Given the description of an element on the screen output the (x, y) to click on. 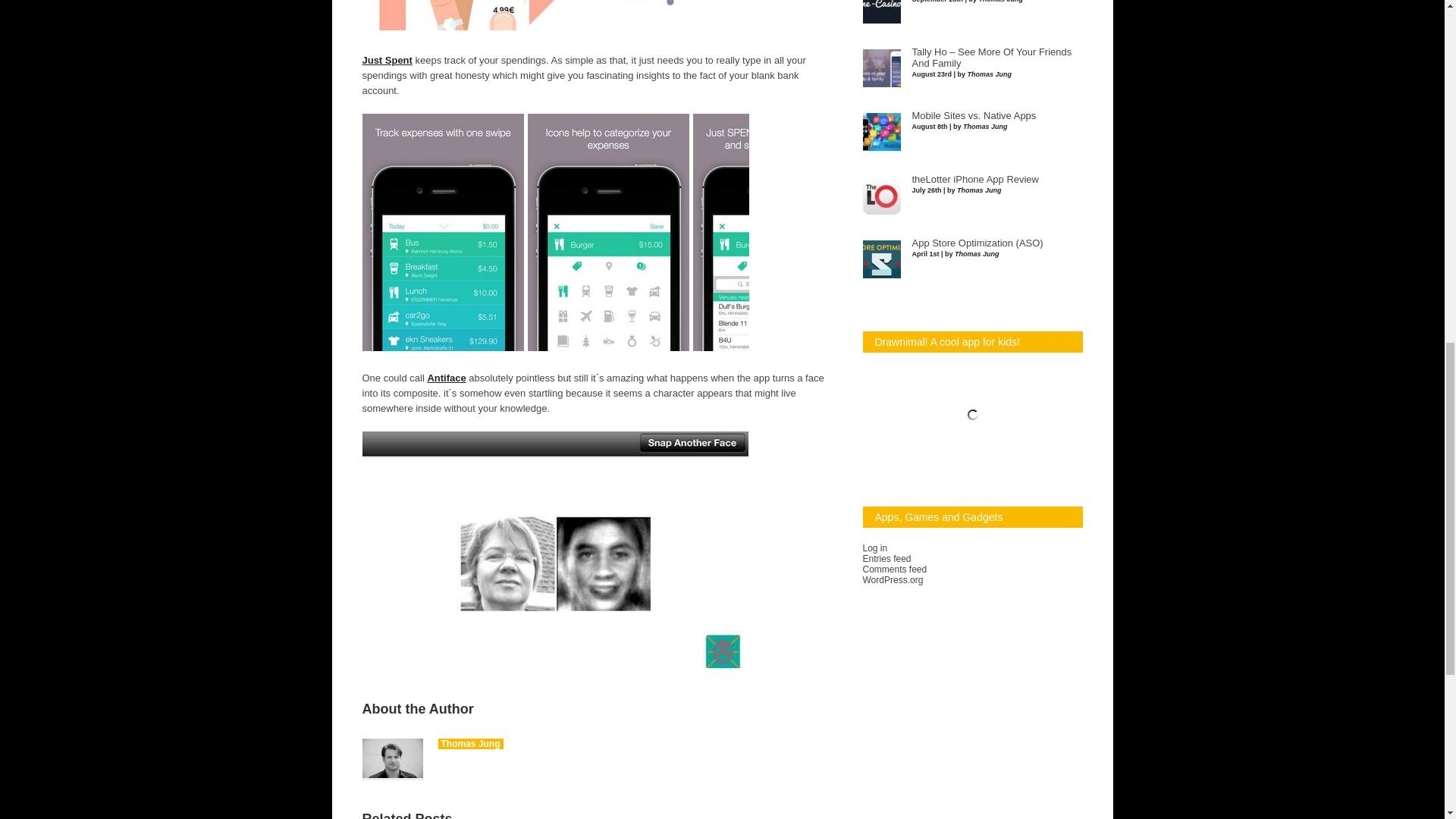
Mobile Sites vs. Native Apps (973, 115)
theLotter iPhone App Review (974, 179)
Antiface (445, 378)
Just Spent (387, 60)
Thomas Jung (470, 743)
Posts by Thomas Jung (470, 743)
